Given the description of an element on the screen output the (x, y) to click on. 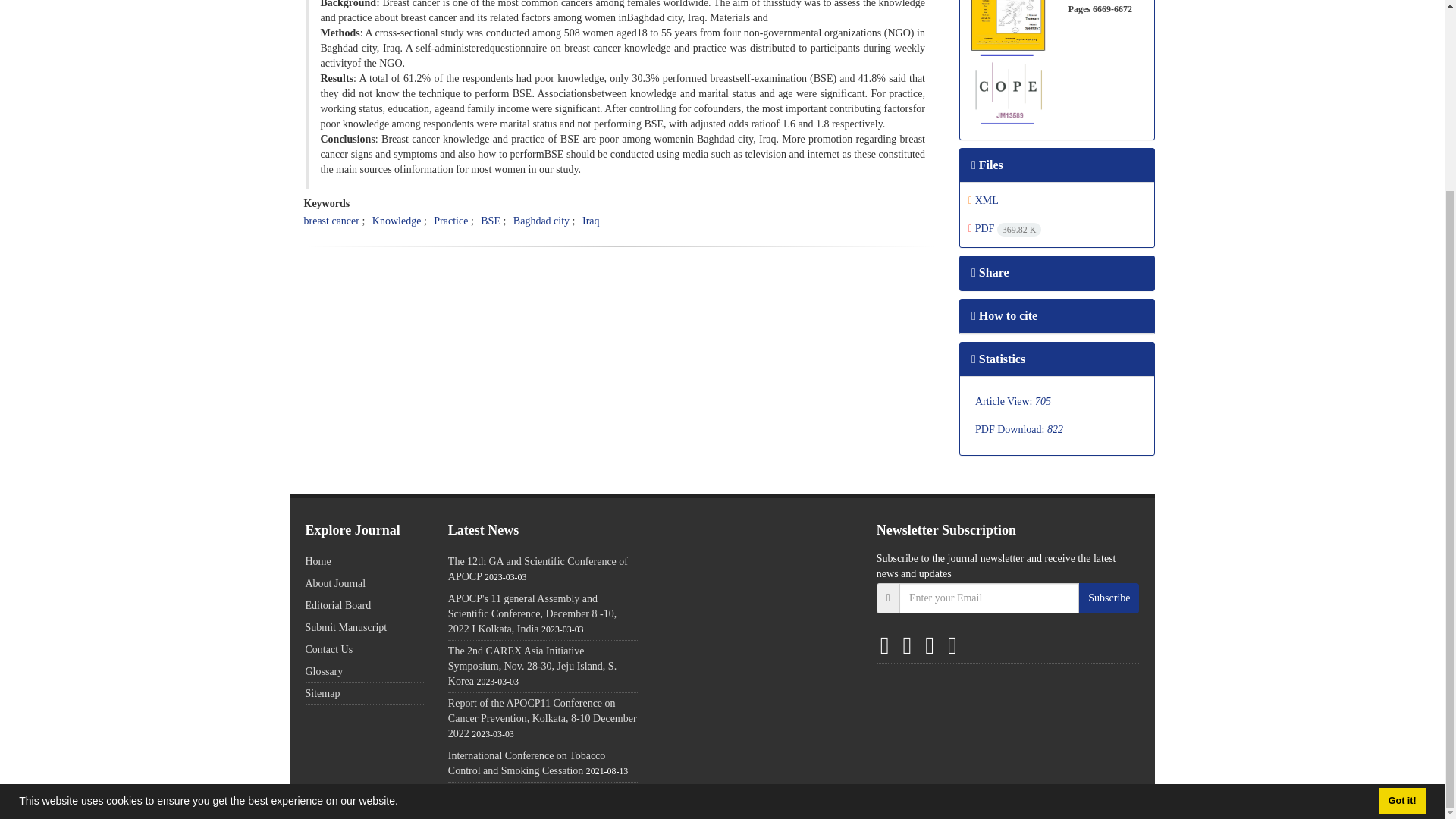
Practice (450, 220)
Baghdad city (541, 220)
breast cancer (330, 220)
BSE (490, 220)
Share (990, 272)
Iraq (590, 220)
PDF 369.82 K (1004, 228)
Got it! (1401, 561)
Knowledge (397, 220)
XML (983, 200)
